Given the description of an element on the screen output the (x, y) to click on. 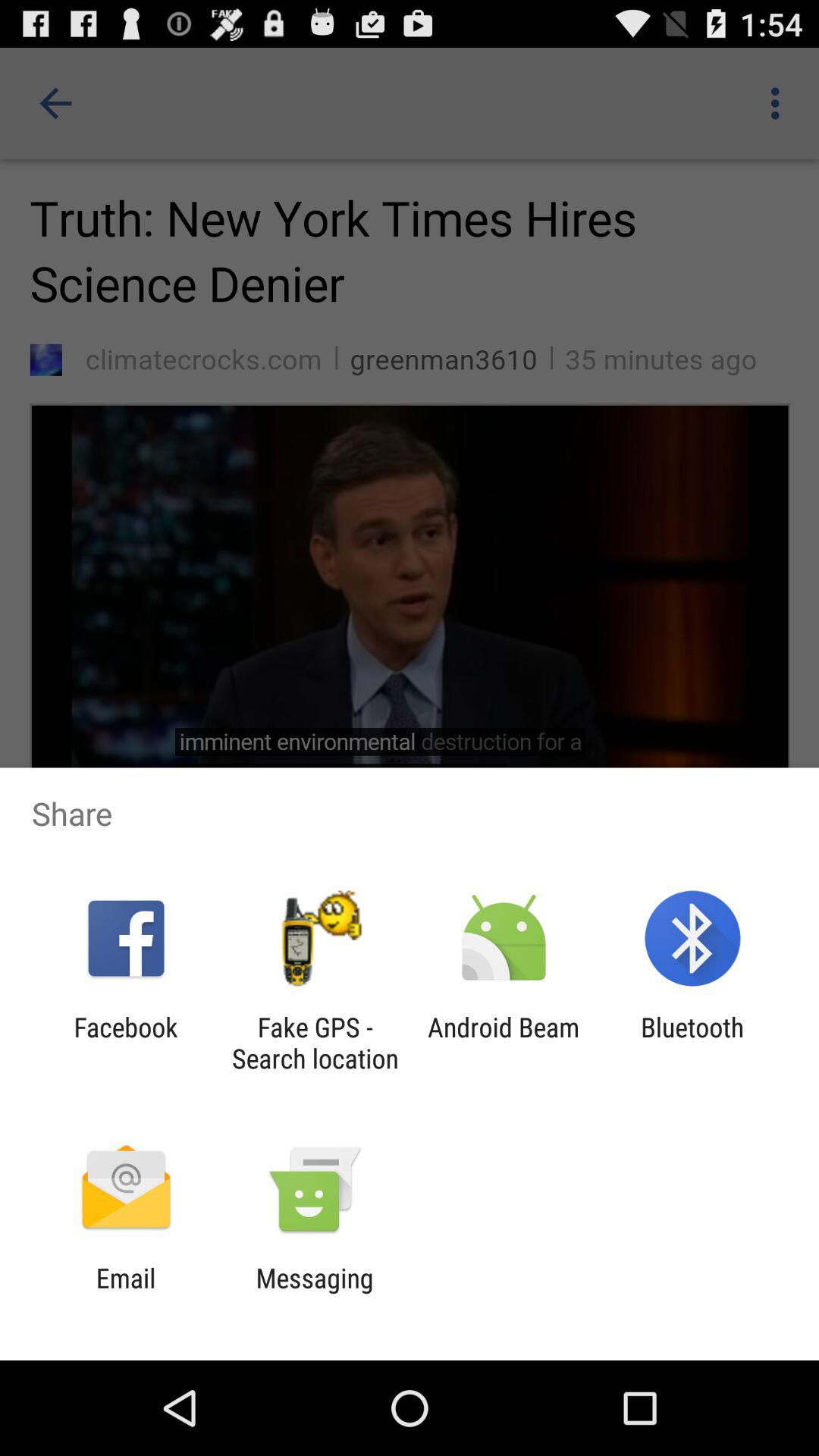
choose app next to android beam icon (314, 1042)
